Given the description of an element on the screen output the (x, y) to click on. 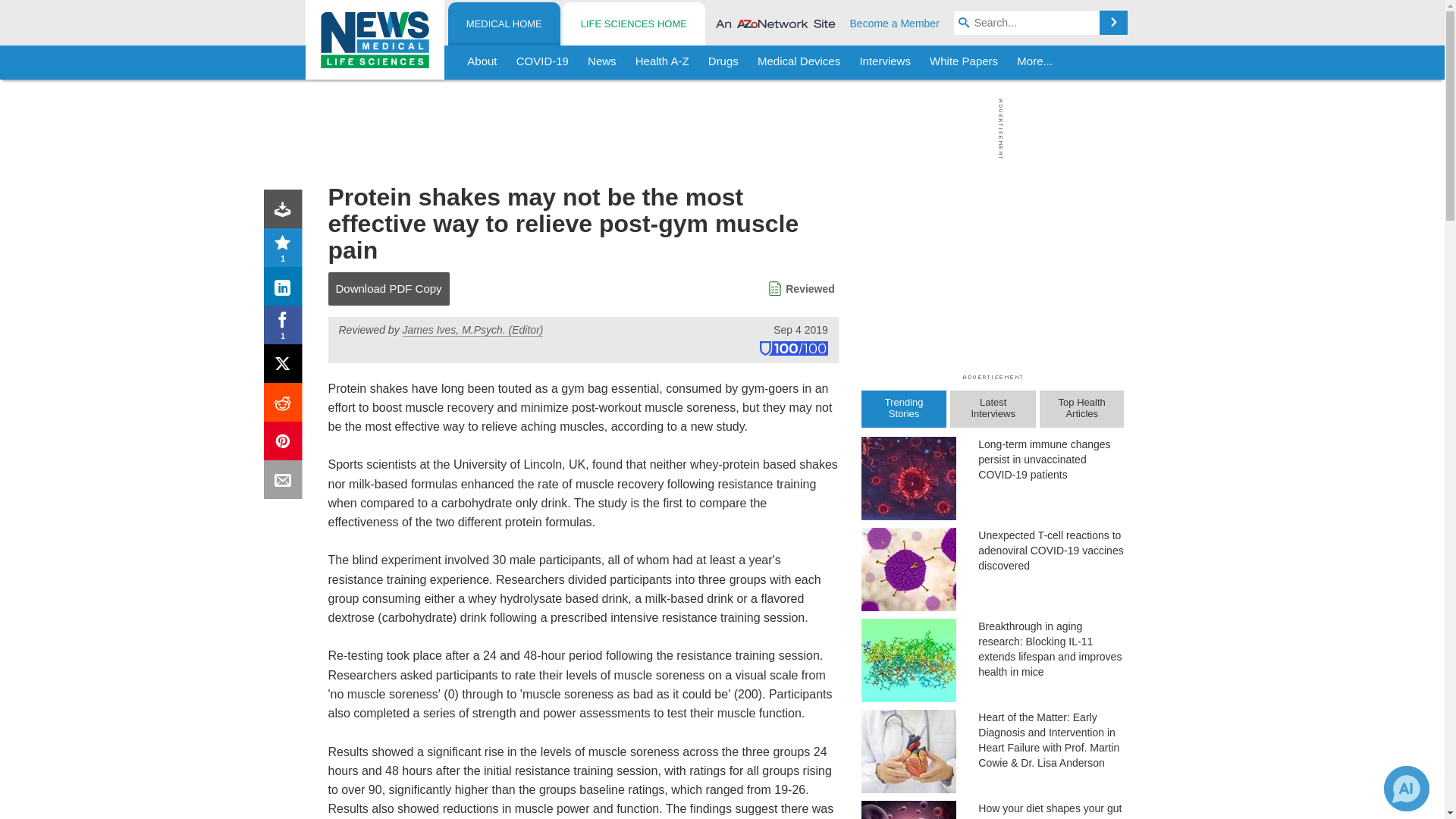
LIFE SCIENCES HOME (633, 23)
News (601, 62)
Email (285, 483)
COVID-19 (542, 62)
Reddit (285, 405)
Search (1112, 22)
Medical Devices (798, 62)
MEDICAL HOME (504, 23)
More... (1035, 62)
Rating (285, 250)
LinkedIn (285, 289)
Interviews (884, 62)
X (285, 366)
Become a Member (894, 22)
Pinterest (285, 443)
